Given the description of an element on the screen output the (x, y) to click on. 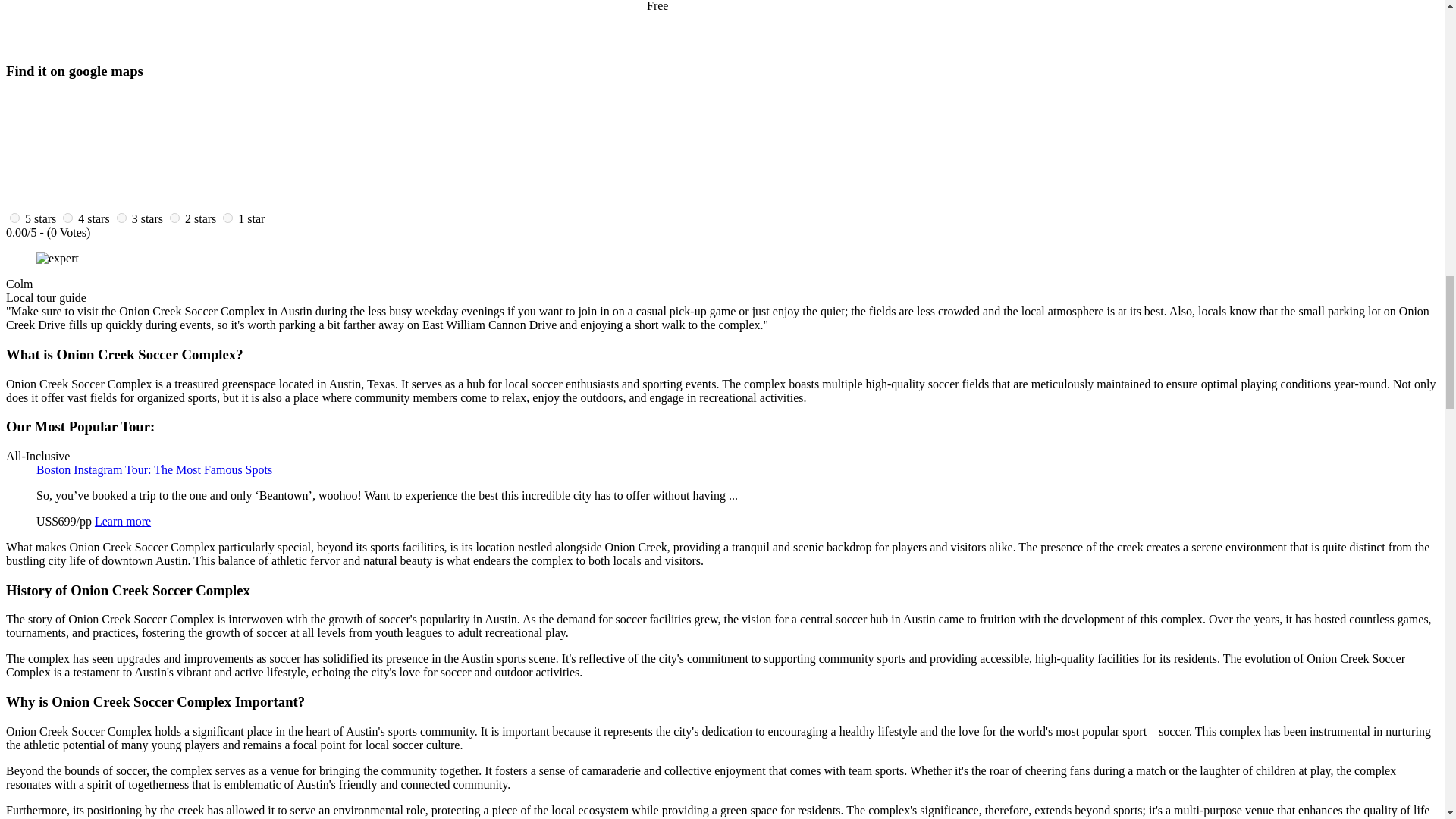
3 (121, 217)
2 stars (199, 218)
1 stars (251, 218)
1 (227, 217)
5 (15, 217)
3 stars (147, 218)
4 stars (93, 218)
2 (174, 217)
4 (67, 217)
5 stars (40, 218)
